Given the description of an element on the screen output the (x, y) to click on. 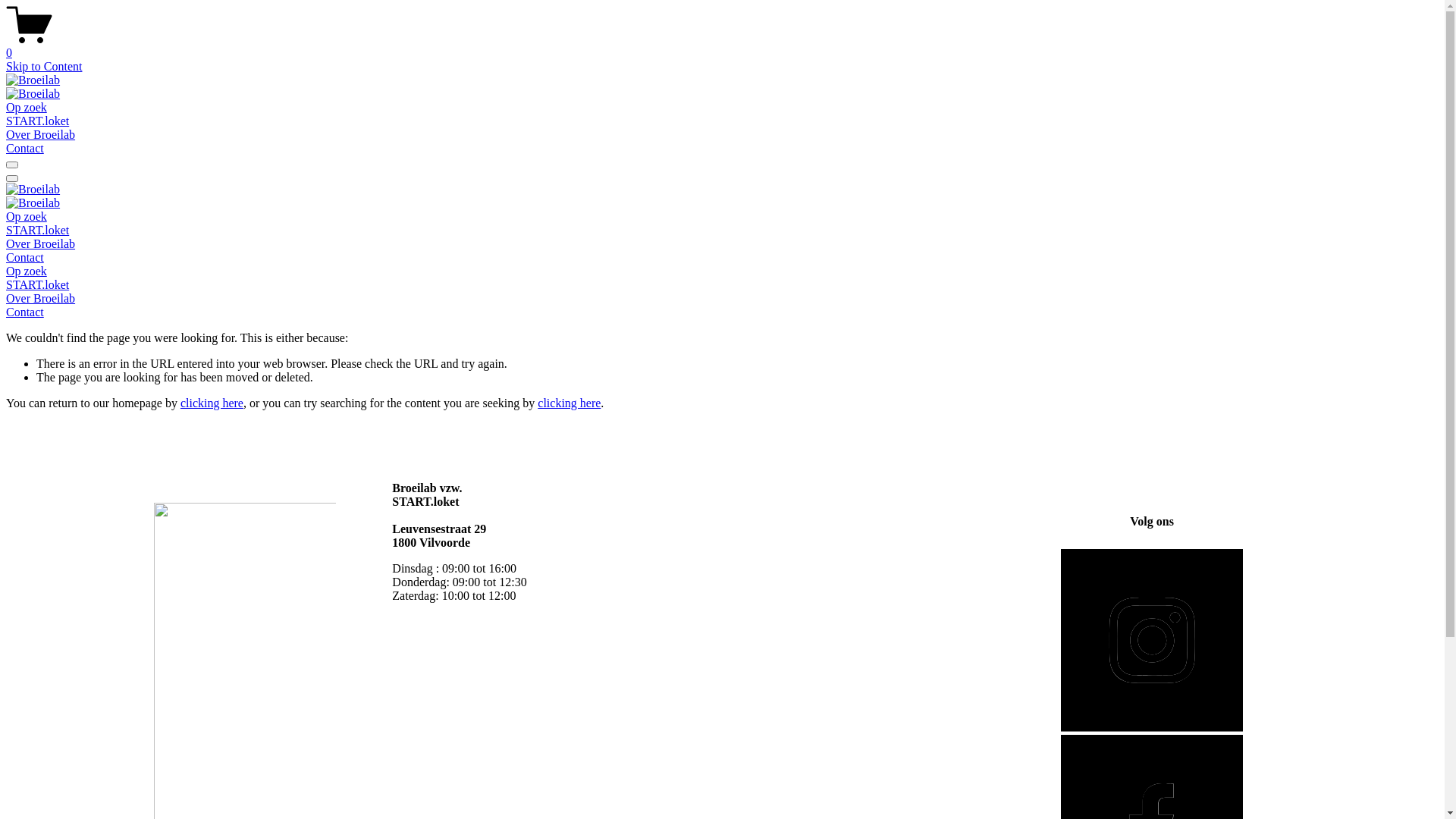
Contact Element type: text (24, 147)
Contact Element type: text (24, 257)
Op zoek Element type: text (26, 106)
Over Broeilab Element type: text (40, 243)
clicking here Element type: text (211, 402)
clicking here Element type: text (568, 402)
Contact Element type: text (722, 312)
Skip to Content Element type: text (43, 65)
Op zoek Element type: text (26, 216)
START.loket Element type: text (37, 229)
0 Element type: text (722, 45)
Op zoek Element type: text (722, 271)
START.loket Element type: text (37, 120)
START.loket Element type: text (722, 284)
Over Broeilab Element type: text (722, 298)
Over Broeilab Element type: text (40, 134)
